Given the description of an element on the screen output the (x, y) to click on. 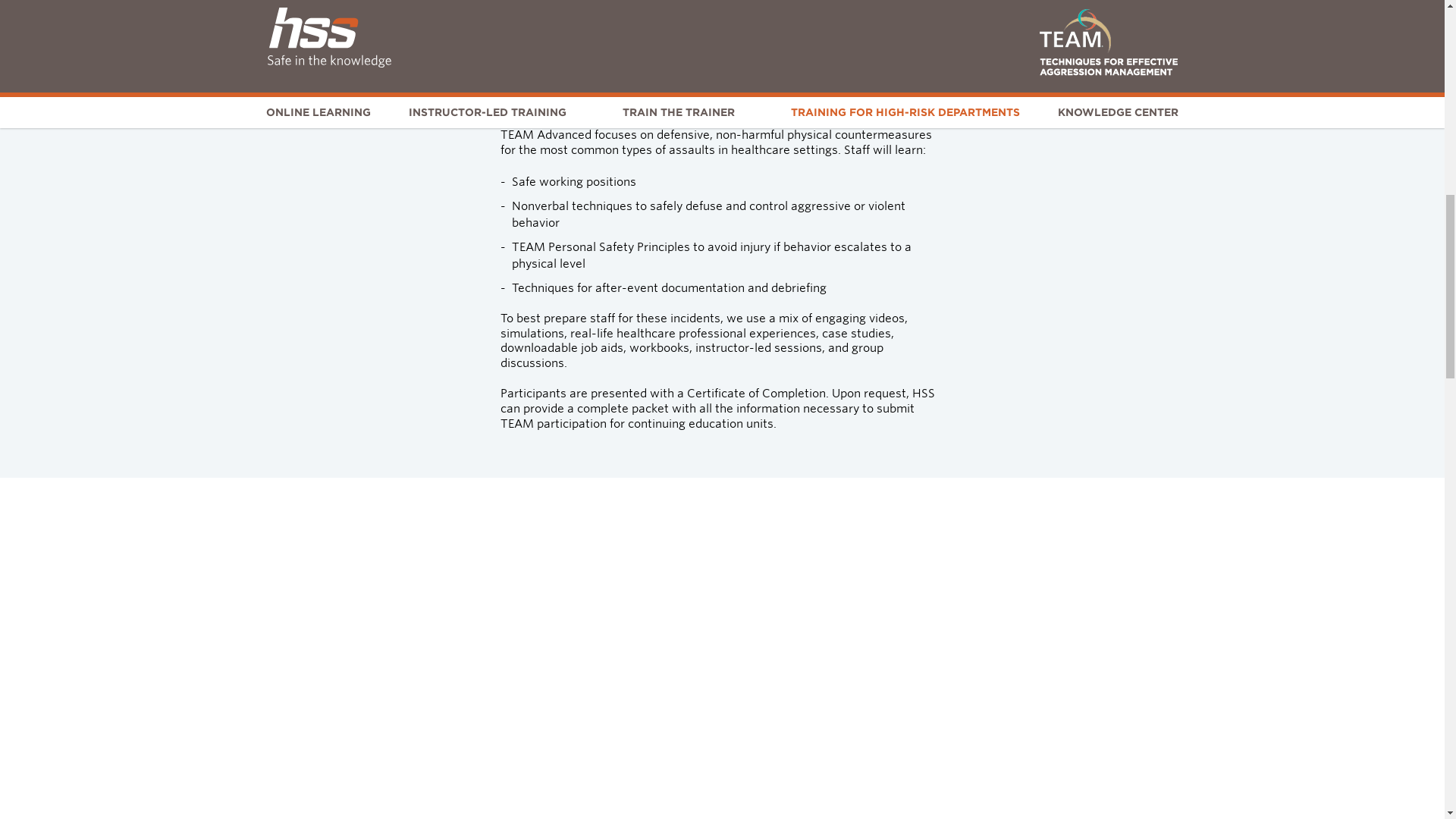
TEAM Offerings (1081, 12)
